Given the description of an element on the screen output the (x, y) to click on. 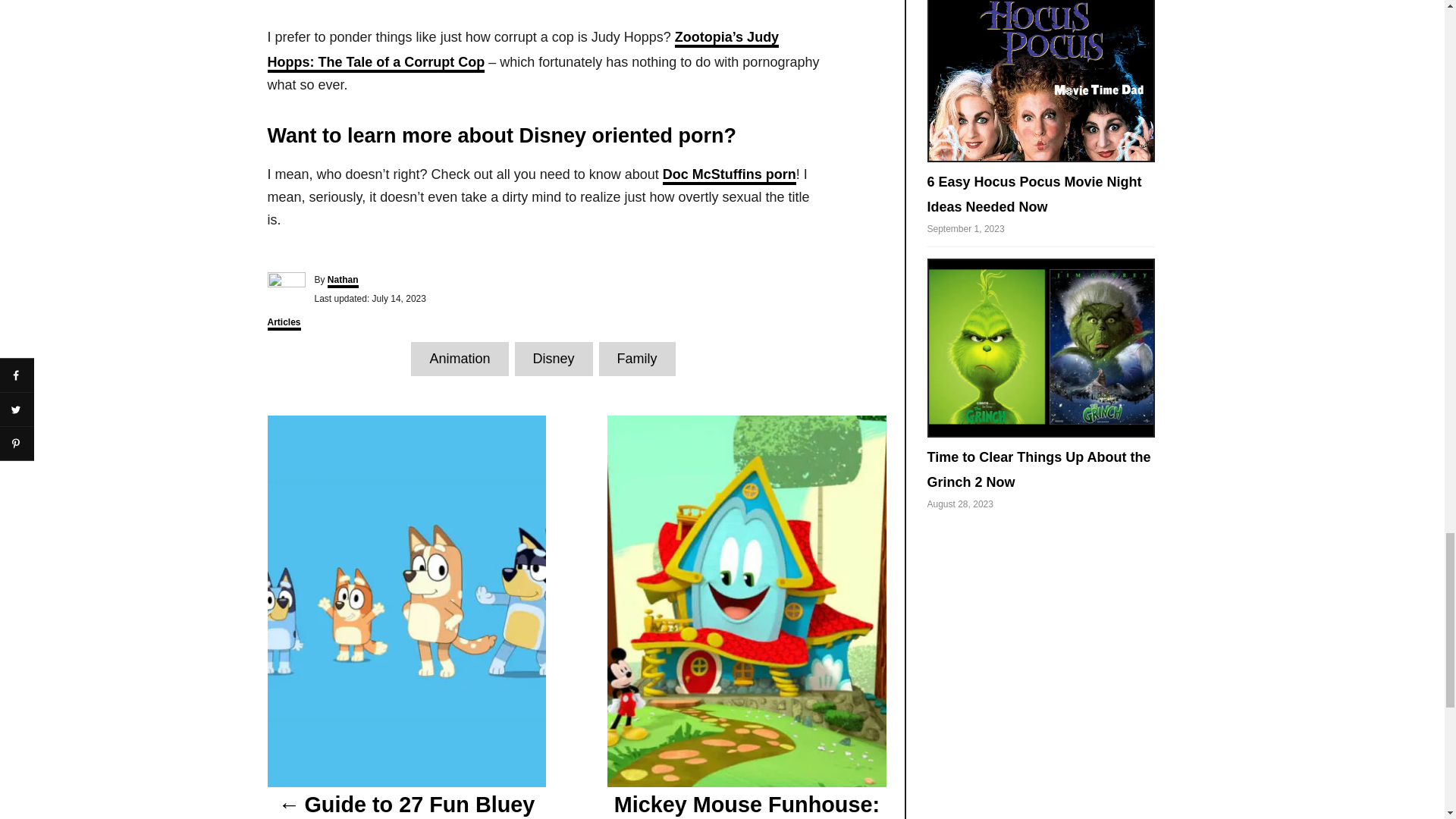
Family (636, 358)
Guide to 27 Fun Bluey Characters You Need to Know Now (405, 803)
Nathan (342, 281)
Animation (459, 358)
Disney (552, 358)
Articles (282, 323)
Doc McStuffins porn (729, 176)
Mickey Mouse Funhouse: A Review Parents Need Now (746, 803)
